Given the description of an element on the screen output the (x, y) to click on. 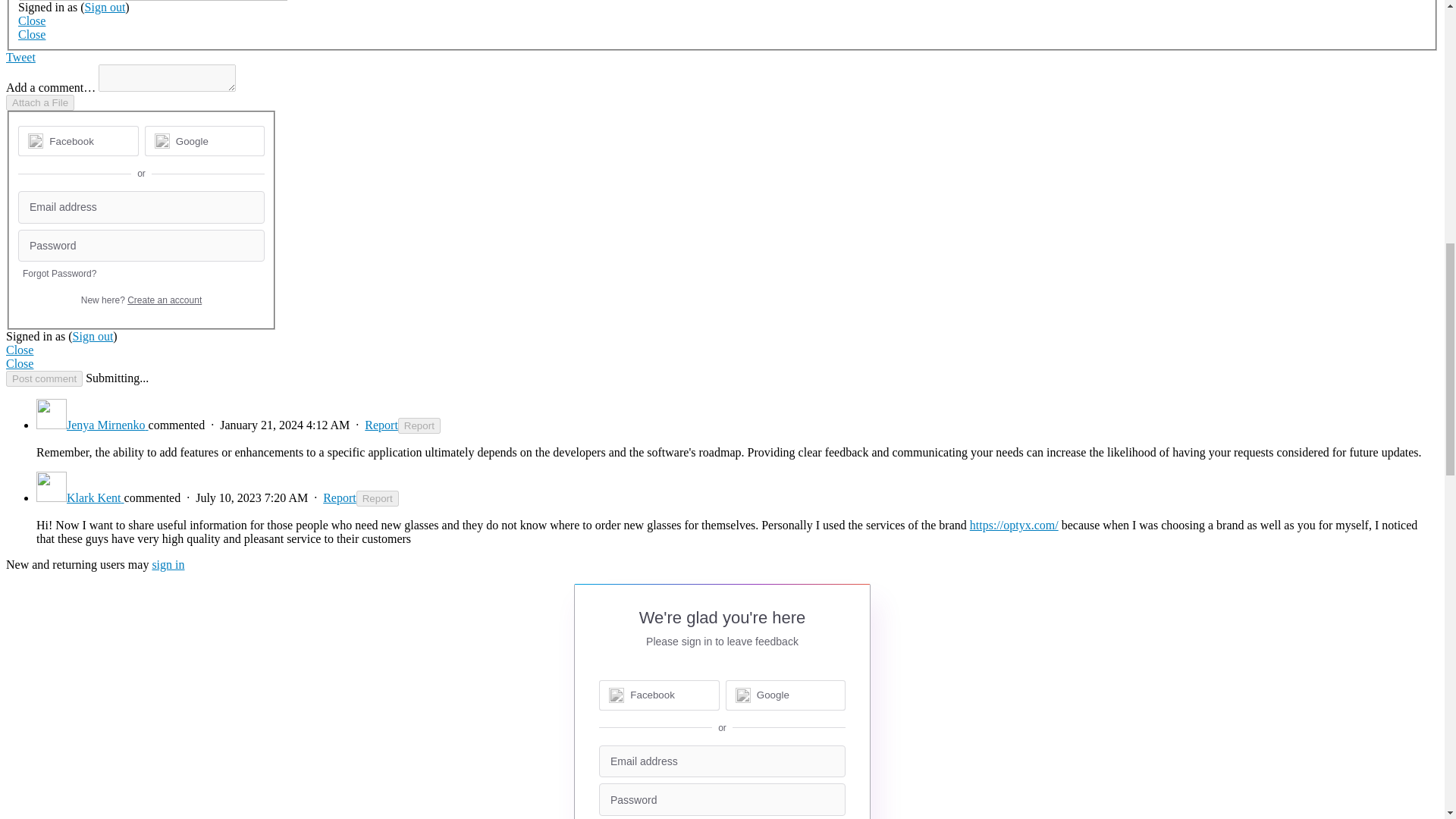
Facebook (77, 141)
Google sign in (204, 141)
Tweet (19, 56)
Close (31, 33)
Sign out (104, 6)
Sign out (92, 336)
Google (204, 141)
Facebook sign in (77, 141)
Google (192, 141)
Attach a File (39, 102)
Facebook (71, 141)
Forgot Password? (58, 273)
New here? Create an account (141, 299)
Close (31, 20)
